Given the description of an element on the screen output the (x, y) to click on. 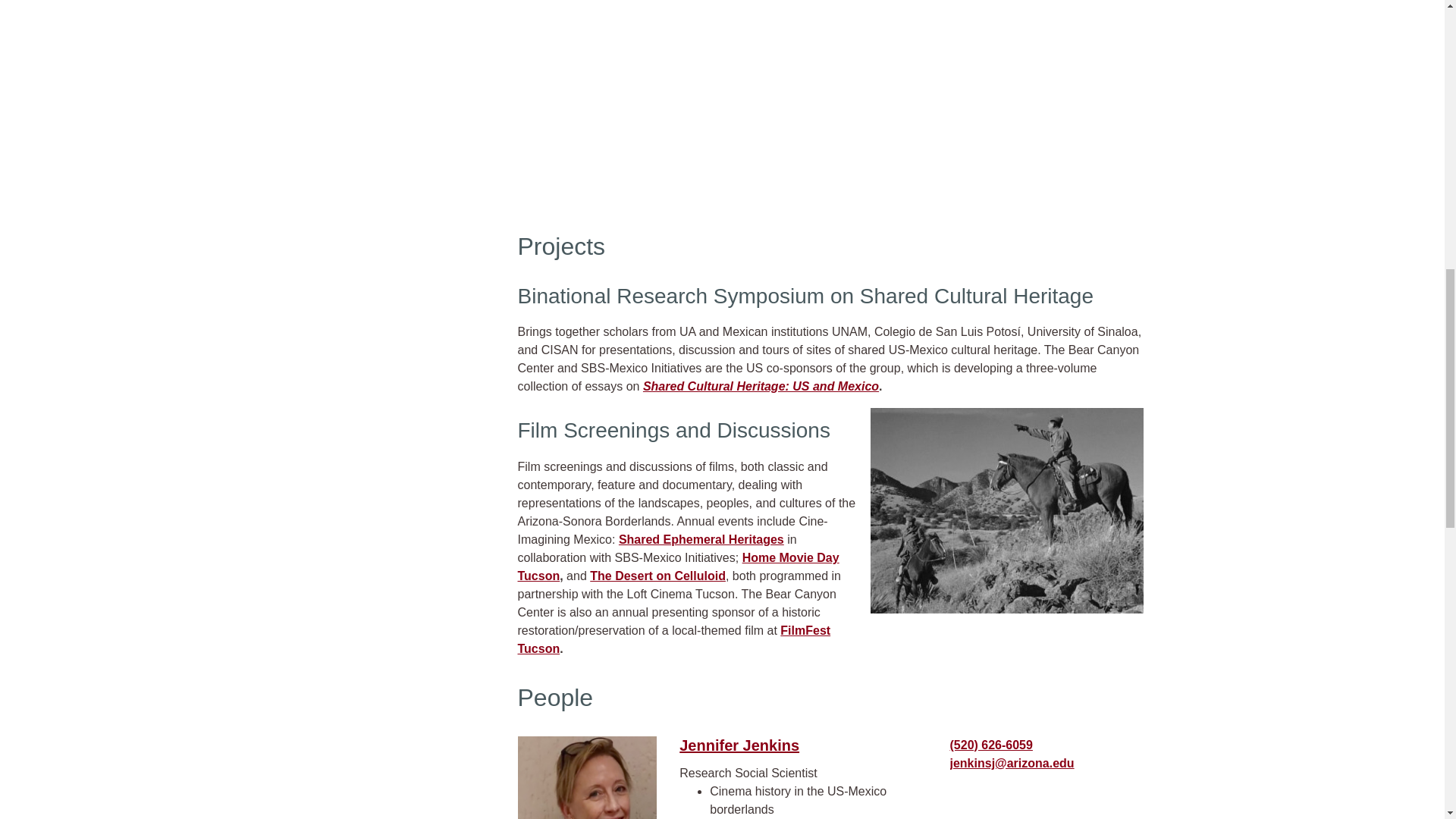
Bear Canyon Center for Southwest Humanities (829, 103)
